Given the description of an element on the screen output the (x, y) to click on. 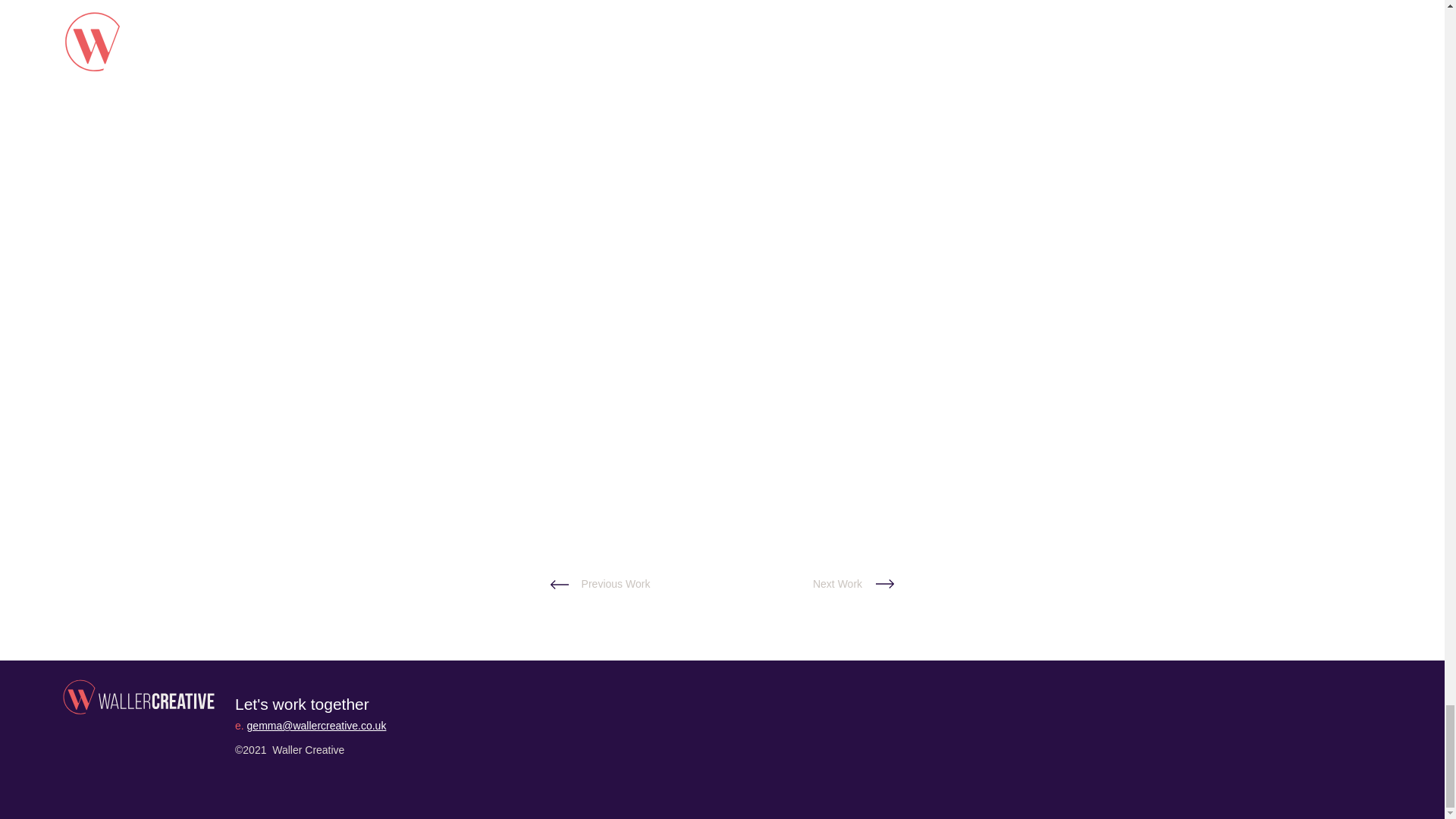
Previous Work (616, 583)
Next Work (837, 583)
